Given the description of an element on the screen output the (x, y) to click on. 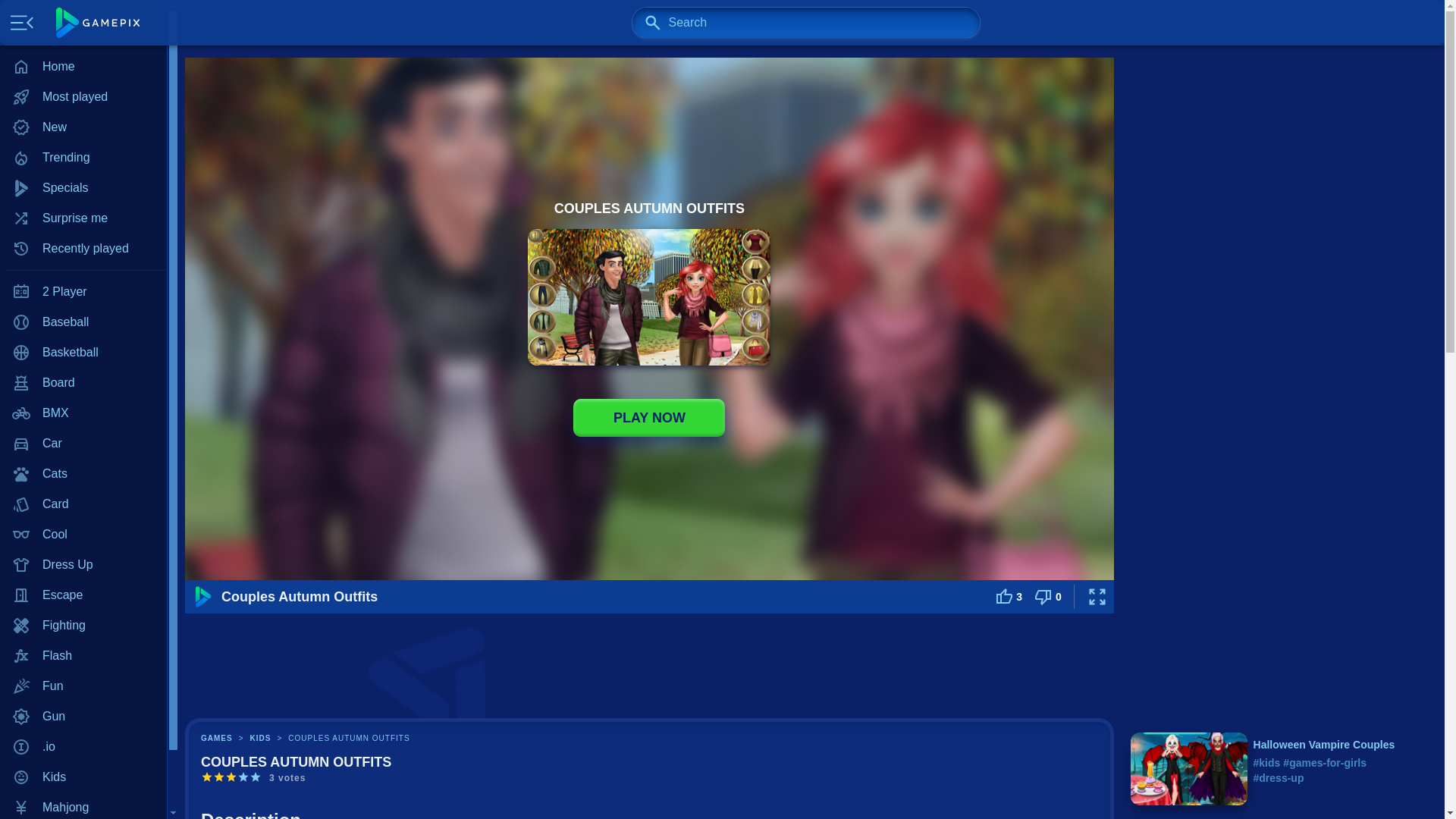
Card (83, 503)
Recently played (83, 248)
Gun (83, 716)
Mahjong (83, 805)
Cats (83, 473)
Board (83, 382)
Home (83, 66)
Escape (83, 594)
BMX (83, 413)
Basketball (83, 352)
Trending (83, 157)
Fun (83, 685)
New (83, 127)
Dress Up (83, 564)
Escape (83, 594)
